Given the description of an element on the screen output the (x, y) to click on. 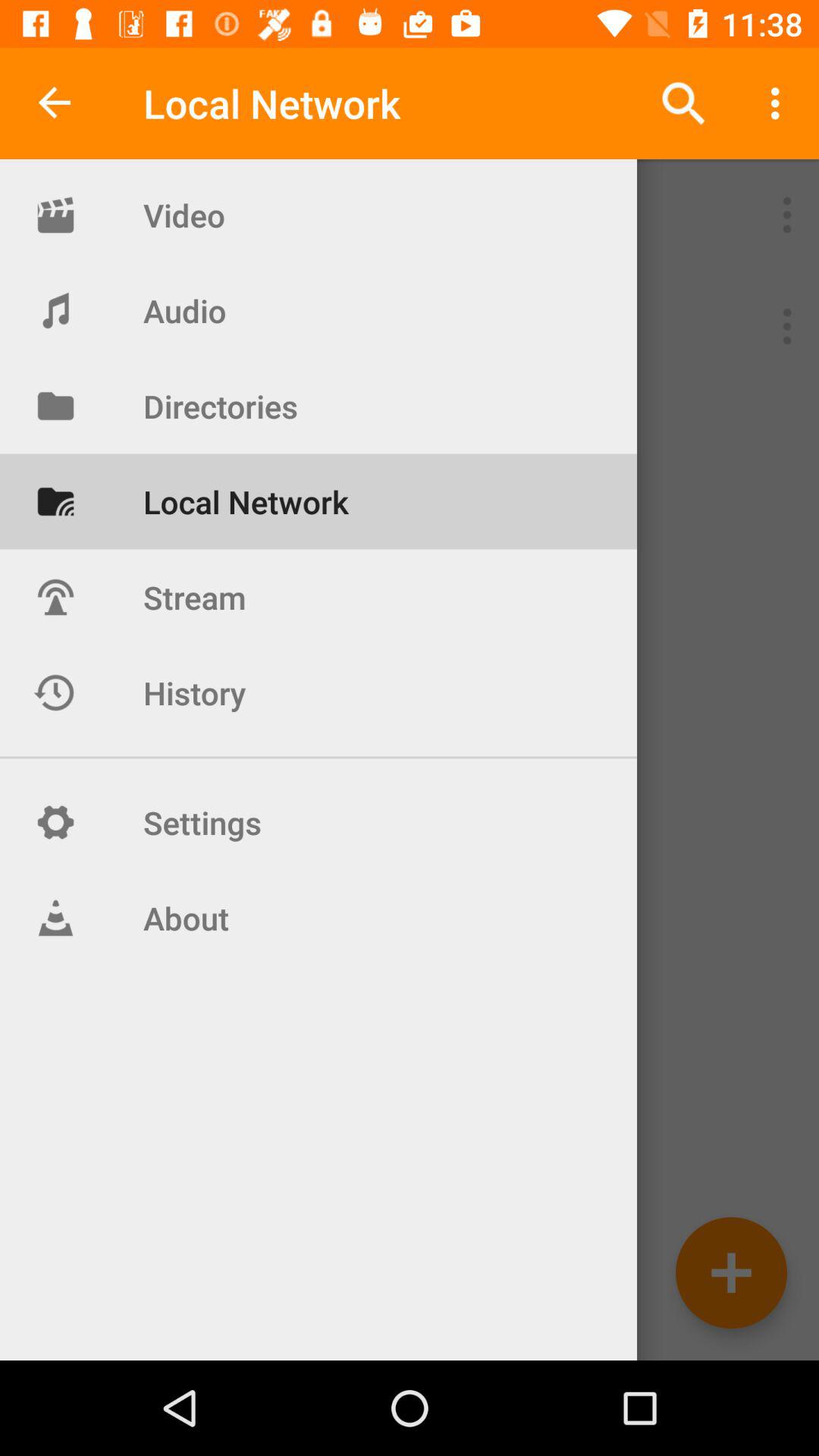
go to add (731, 1272)
